Given the description of an element on the screen output the (x, y) to click on. 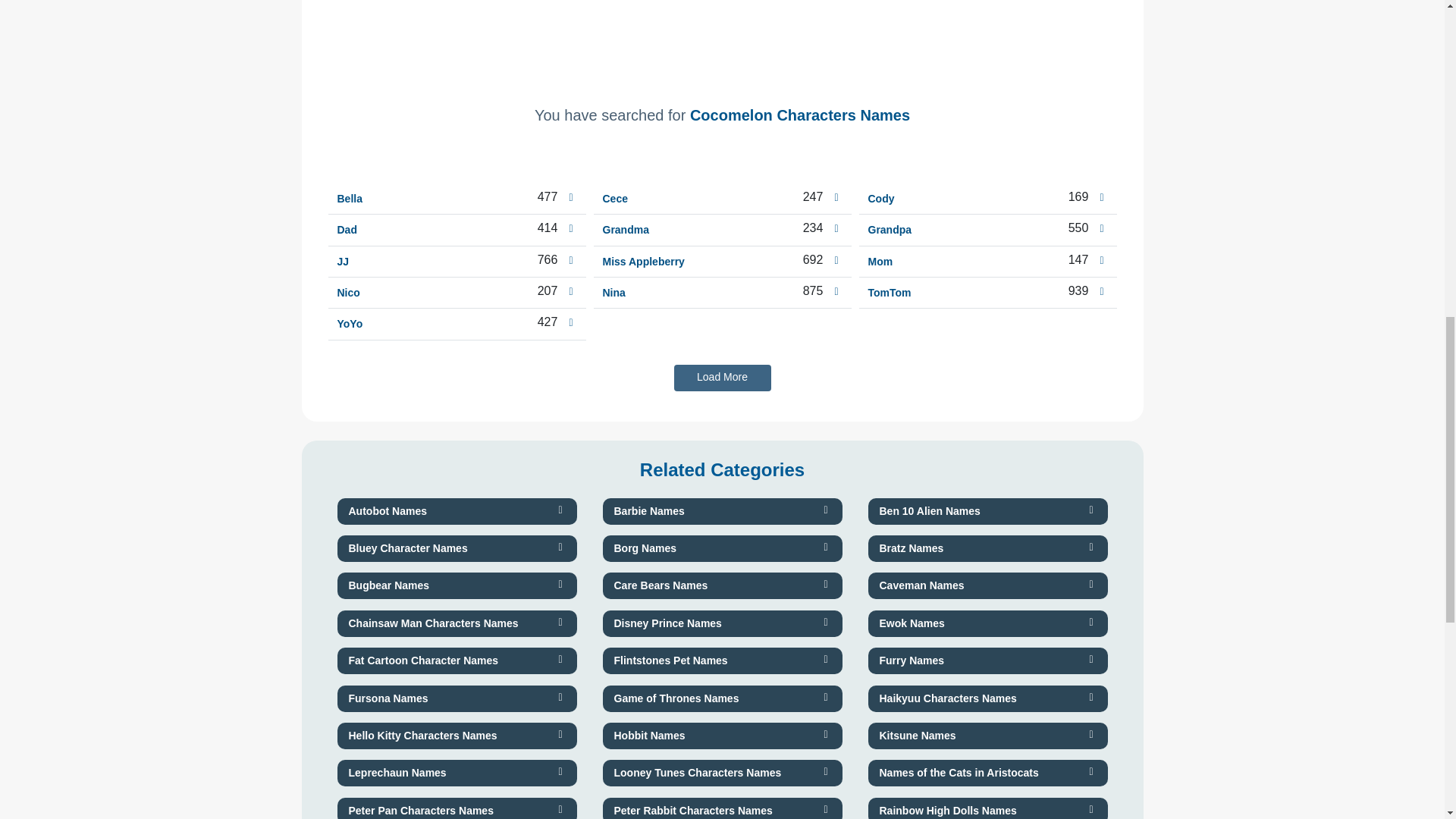
Advertisement (722, 38)
